Given the description of an element on the screen output the (x, y) to click on. 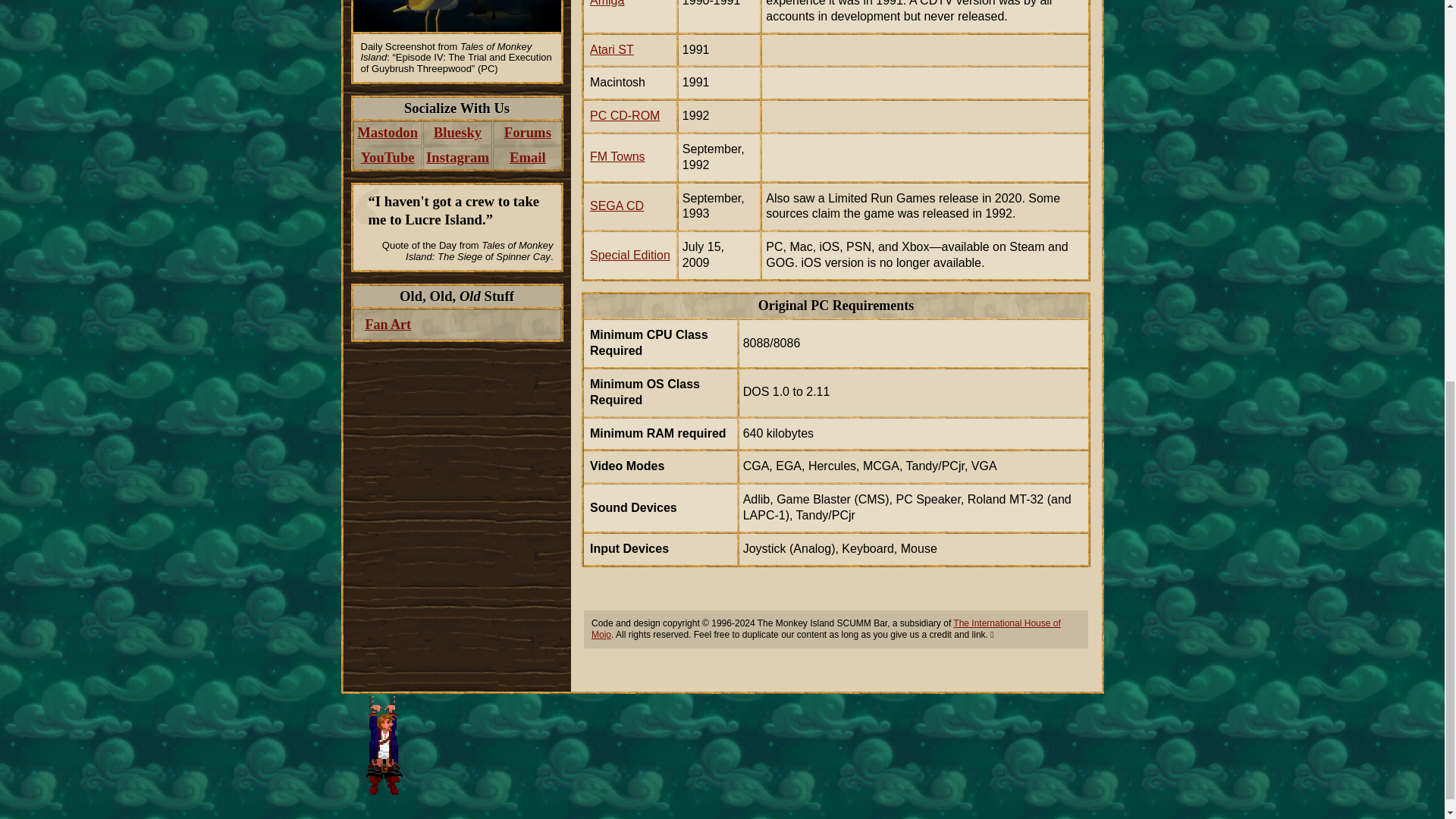
Instagram (457, 158)
Mastodon (387, 133)
Bluesky (457, 133)
YouTube (387, 158)
Email (527, 158)
Forums (527, 133)
Fan Art (456, 324)
